Given the description of an element on the screen output the (x, y) to click on. 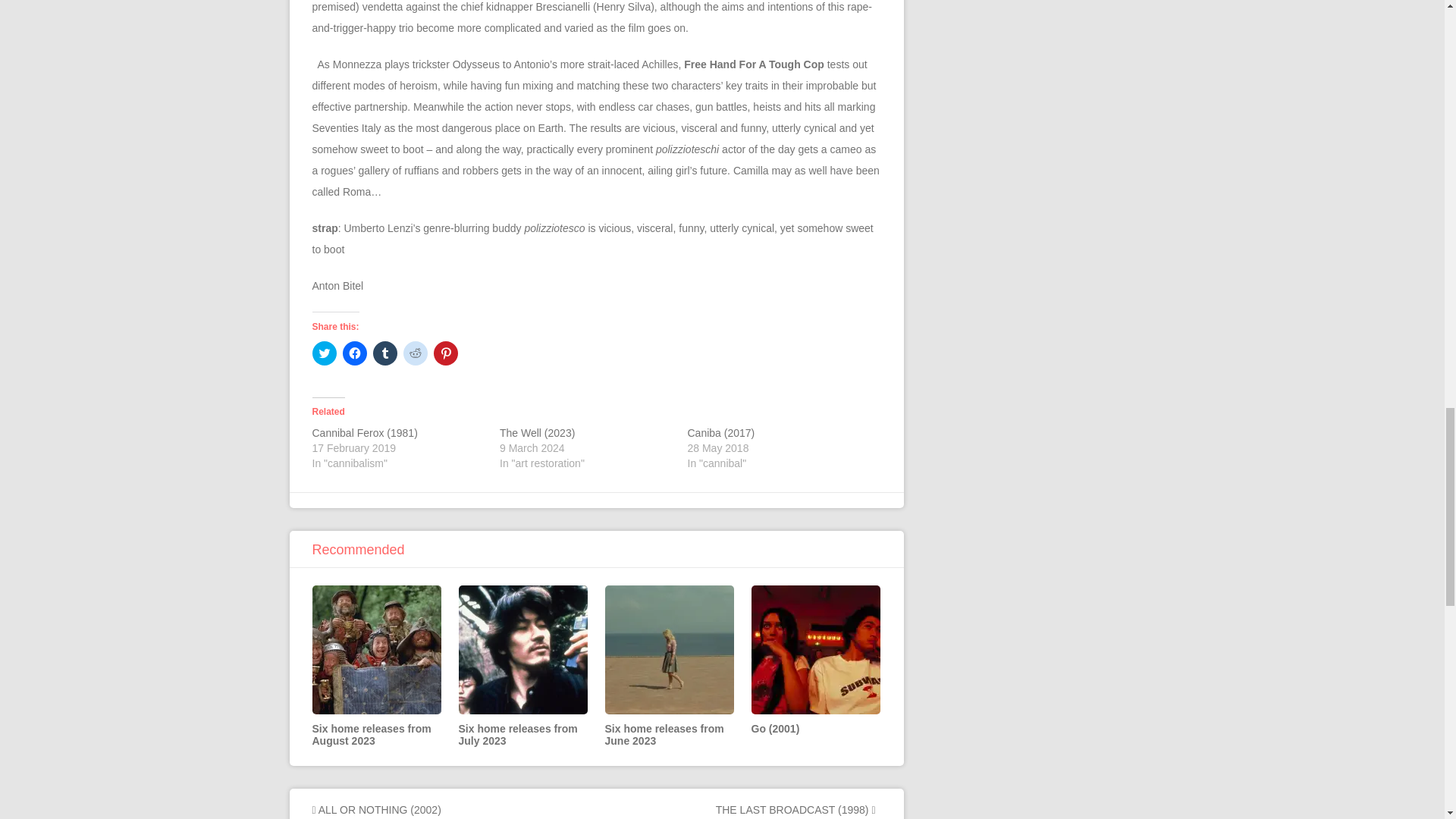
Click to share on Twitter (324, 353)
Click to share on Reddit (415, 353)
Click to share on Facebook (354, 353)
Click to share on Tumblr (384, 353)
Click to share on Pinterest (445, 353)
